Given the description of an element on the screen output the (x, y) to click on. 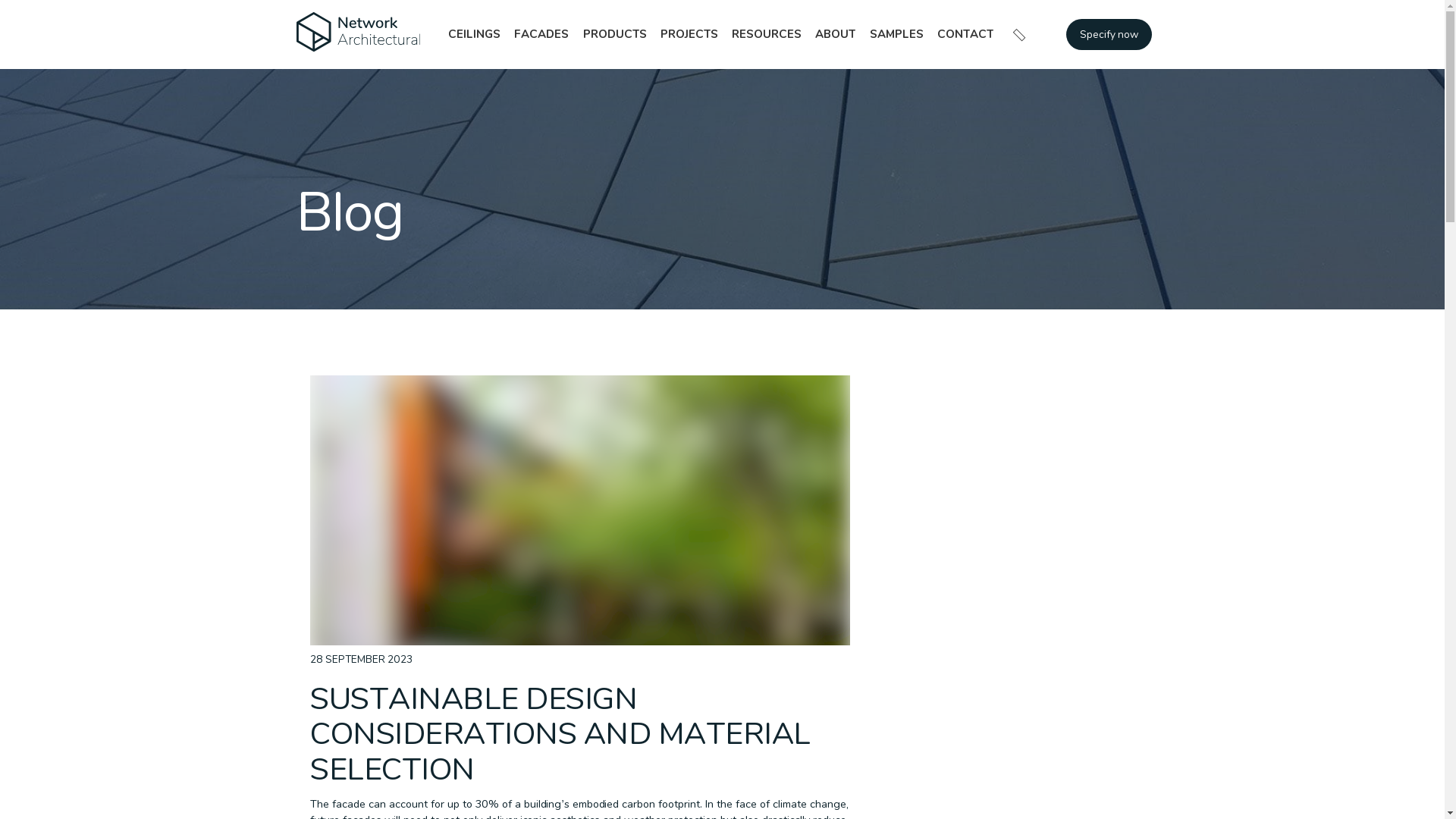
box icon Element type: text (358, 34)
ABOUT Element type: text (835, 34)
Specify now Element type: text (1108, 33)
PRODUCTS Element type: text (613, 34)
CONTACT Element type: text (965, 34)
CEILINGS Element type: text (474, 34)
RESOURCES Element type: text (766, 34)
SAMPLES Element type: text (896, 34)
FACADES Element type: text (541, 34)
PROJECTS Element type: text (688, 34)
